Given the description of an element on the screen output the (x, y) to click on. 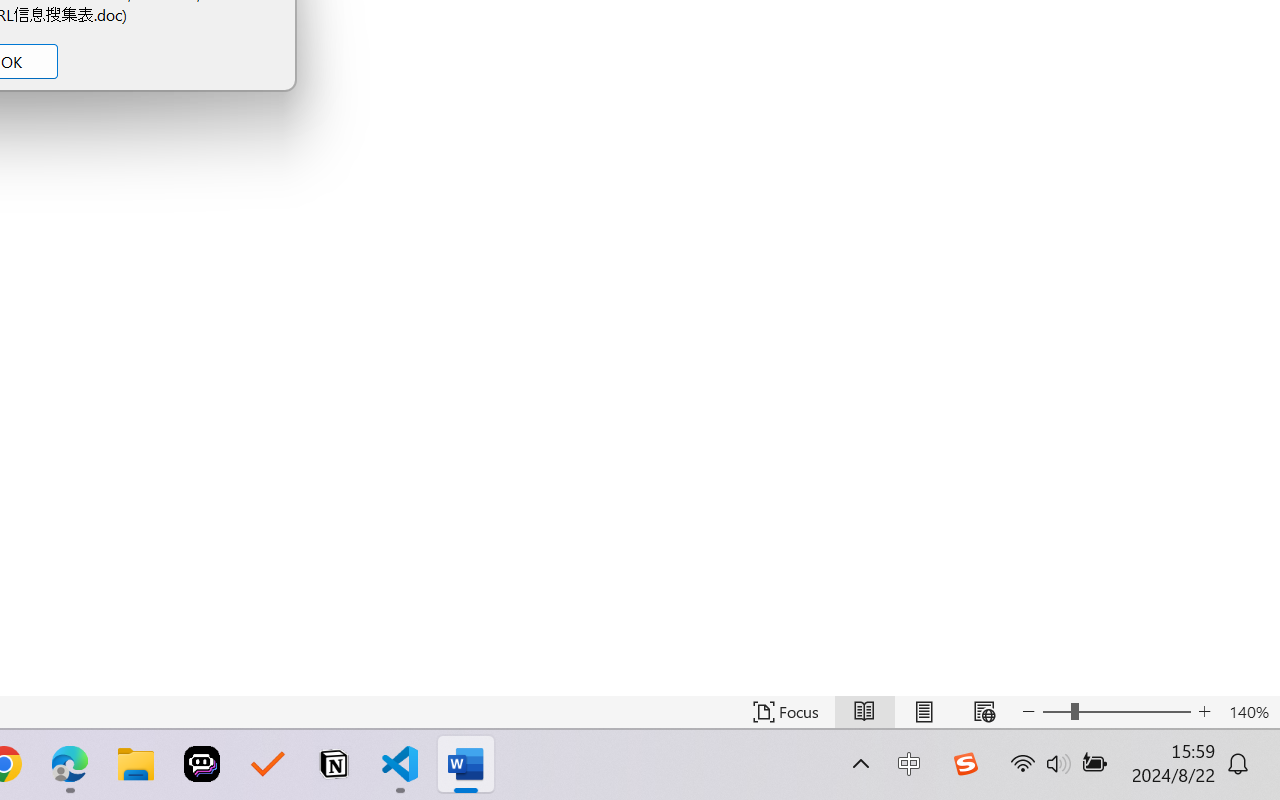
Print Layout (924, 712)
Zoom Out (1056, 712)
Web Layout (984, 712)
Text Size (1116, 712)
Decrease Text Size (1028, 712)
Increase Text Size (1204, 712)
Class: Image (965, 764)
Read Mode (864, 712)
Notion (333, 764)
Poe (201, 764)
